Given the description of an element on the screen output the (x, y) to click on. 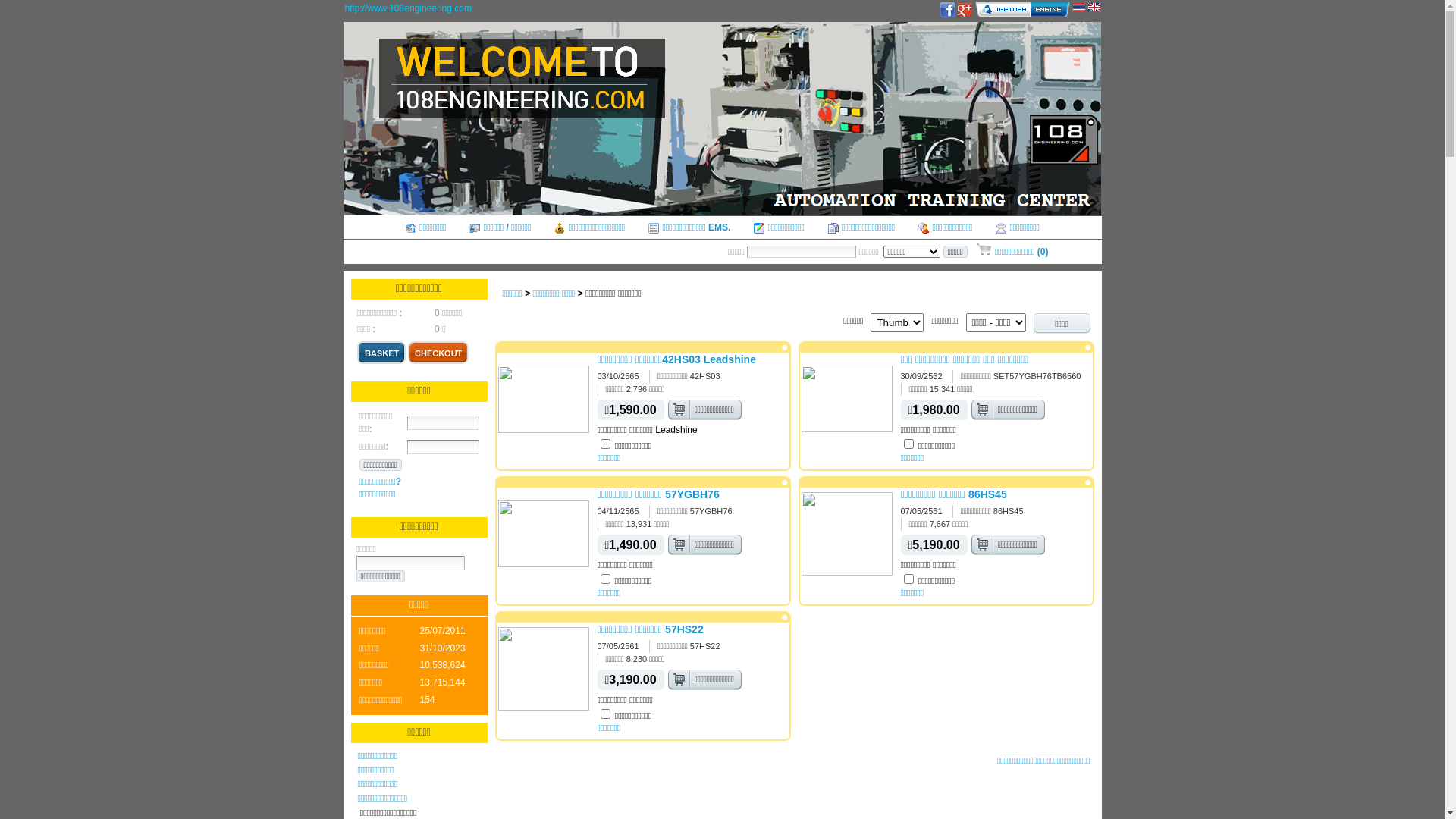
1052411 Element type: text (908, 578)
http://www.108engineering.com Element type: text (407, 8)
1981889 Element type: text (605, 443)
1608913 Element type: text (605, 578)
1608914 Element type: text (908, 443)
1049168 Element type: text (605, 713)
